Given the description of an element on the screen output the (x, y) to click on. 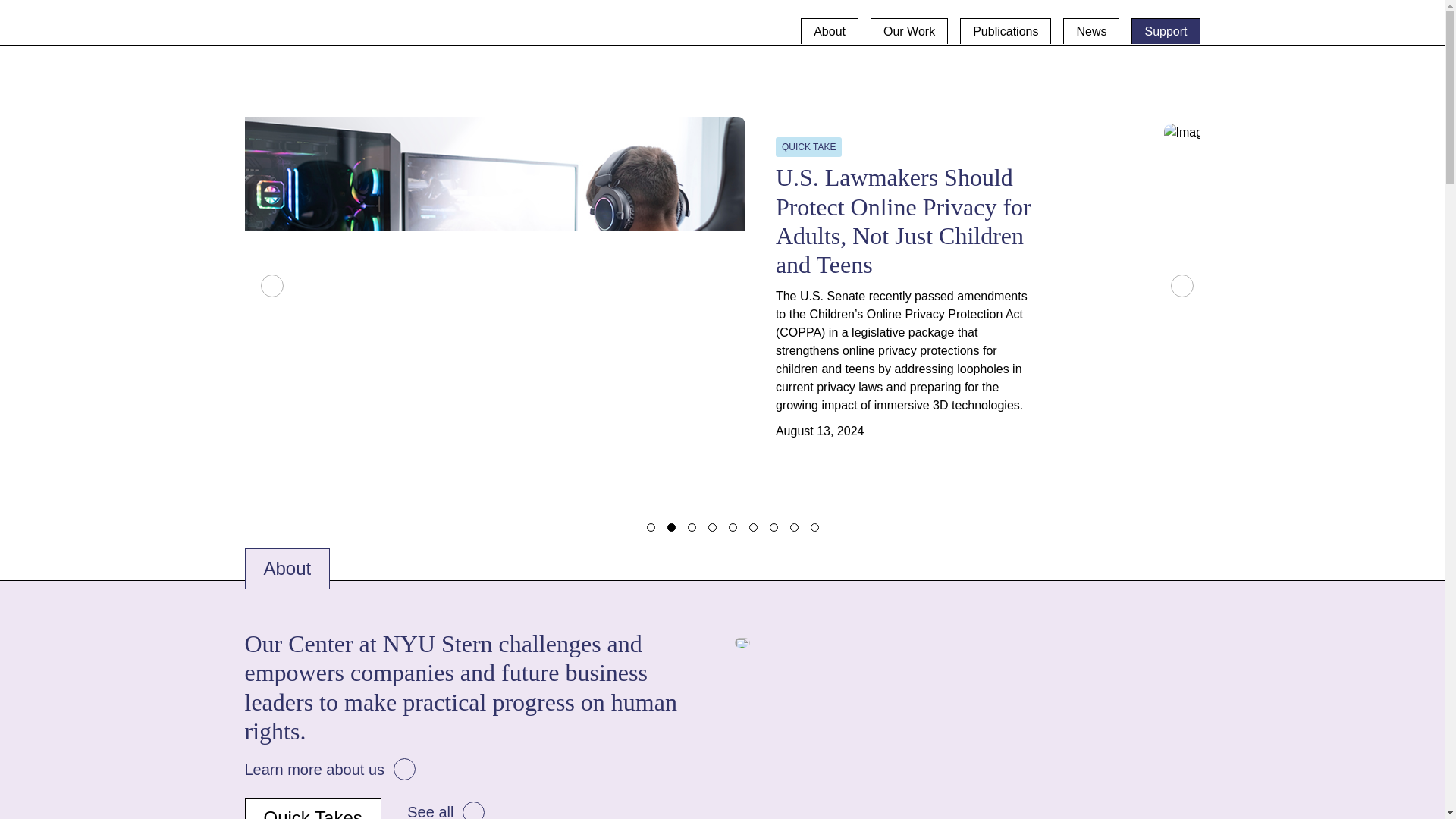
About (829, 31)
News (1090, 31)
Support (1165, 31)
Our Work (908, 31)
Publications (1005, 31)
QUICK TAKE (809, 147)
NYU Stern (424, 25)
